Given the description of an element on the screen output the (x, y) to click on. 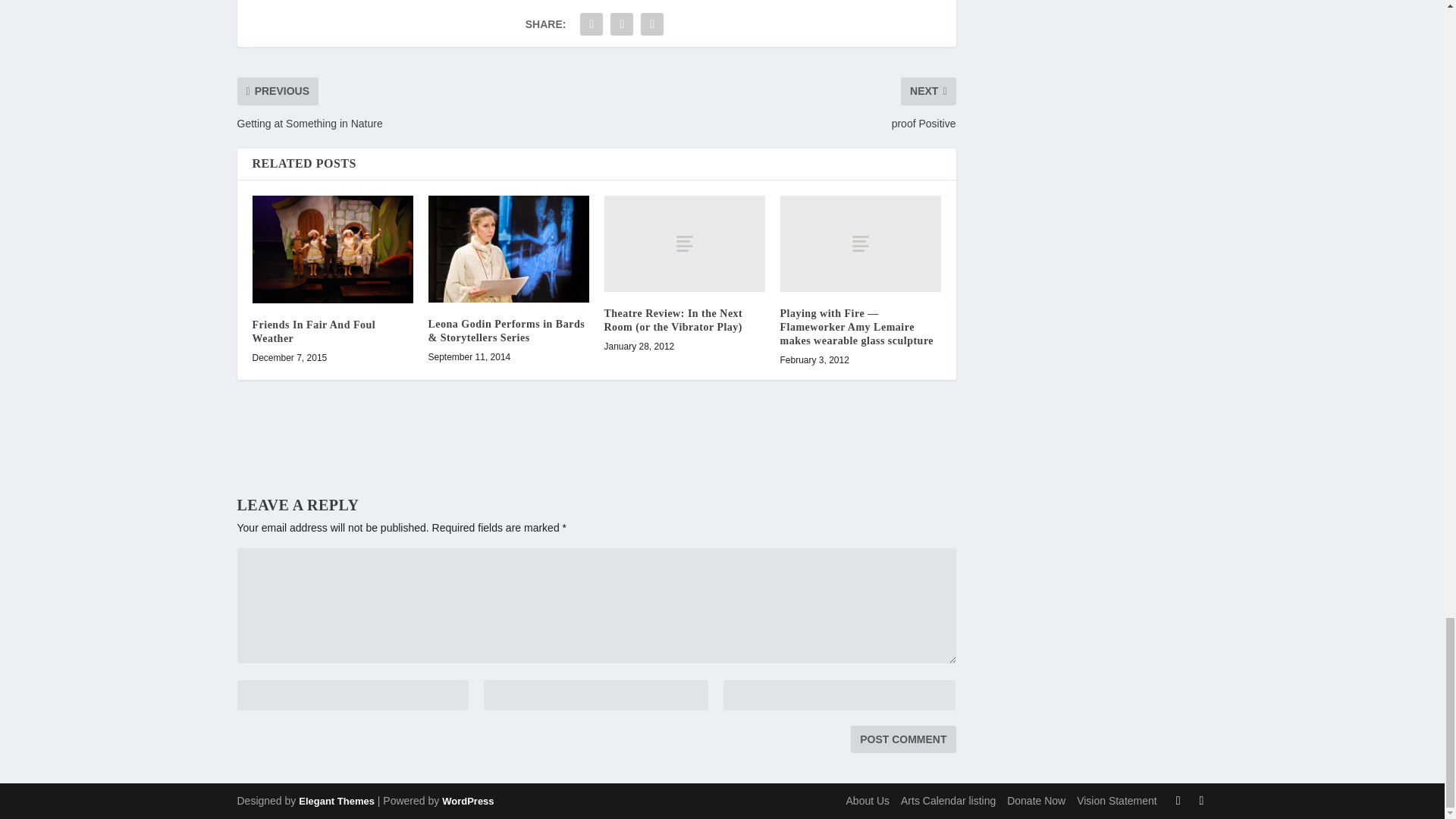
Friends In Fair And Foul Weather (331, 249)
Share "Sometimes We All Feel Like Joseph K" via Facebook (591, 24)
Post Comment (902, 738)
Share "Sometimes We All Feel Like Joseph K" via Email (651, 24)
Premium WordPress Themes (336, 800)
Share "Sometimes We All Feel Like Joseph K" via Twitter (622, 24)
